Given the description of an element on the screen output the (x, y) to click on. 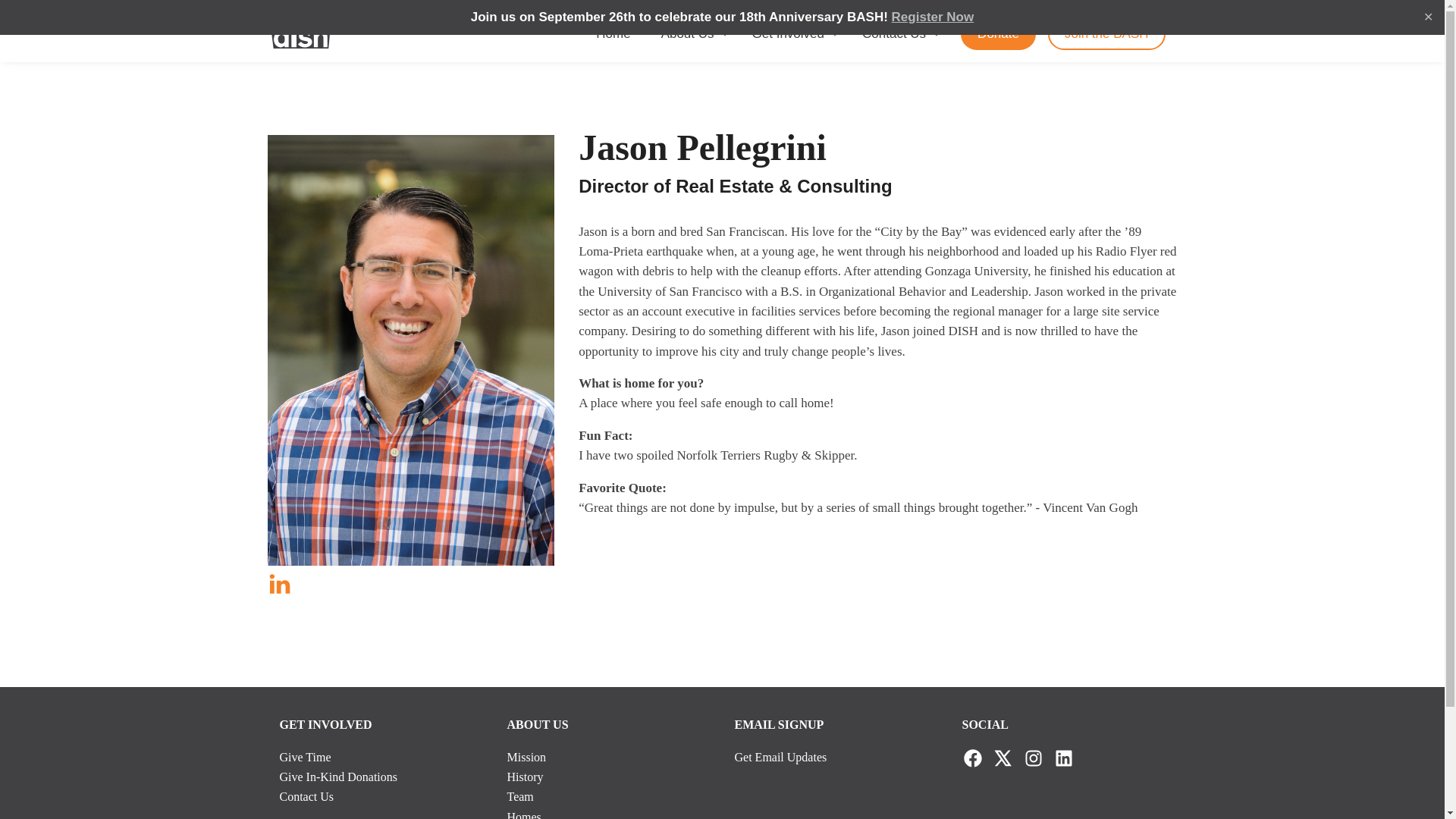
About Us (691, 33)
Open menu (725, 33)
Register Now (932, 16)
Home (612, 33)
